Given the description of an element on the screen output the (x, y) to click on. 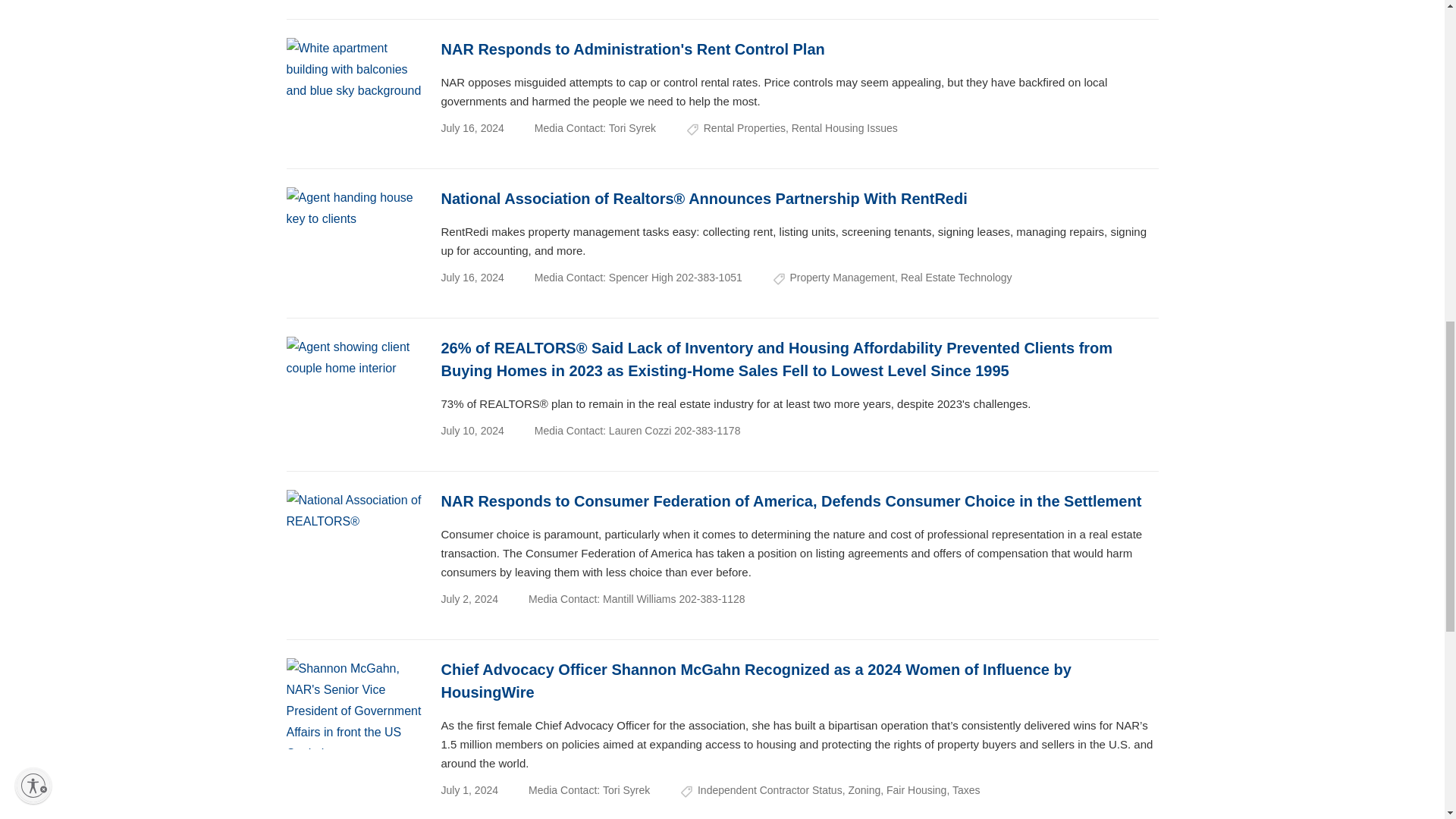
Agent showing client couple home interior (354, 381)
Agent handing house key to clients (354, 232)
